Given the description of an element on the screen output the (x, y) to click on. 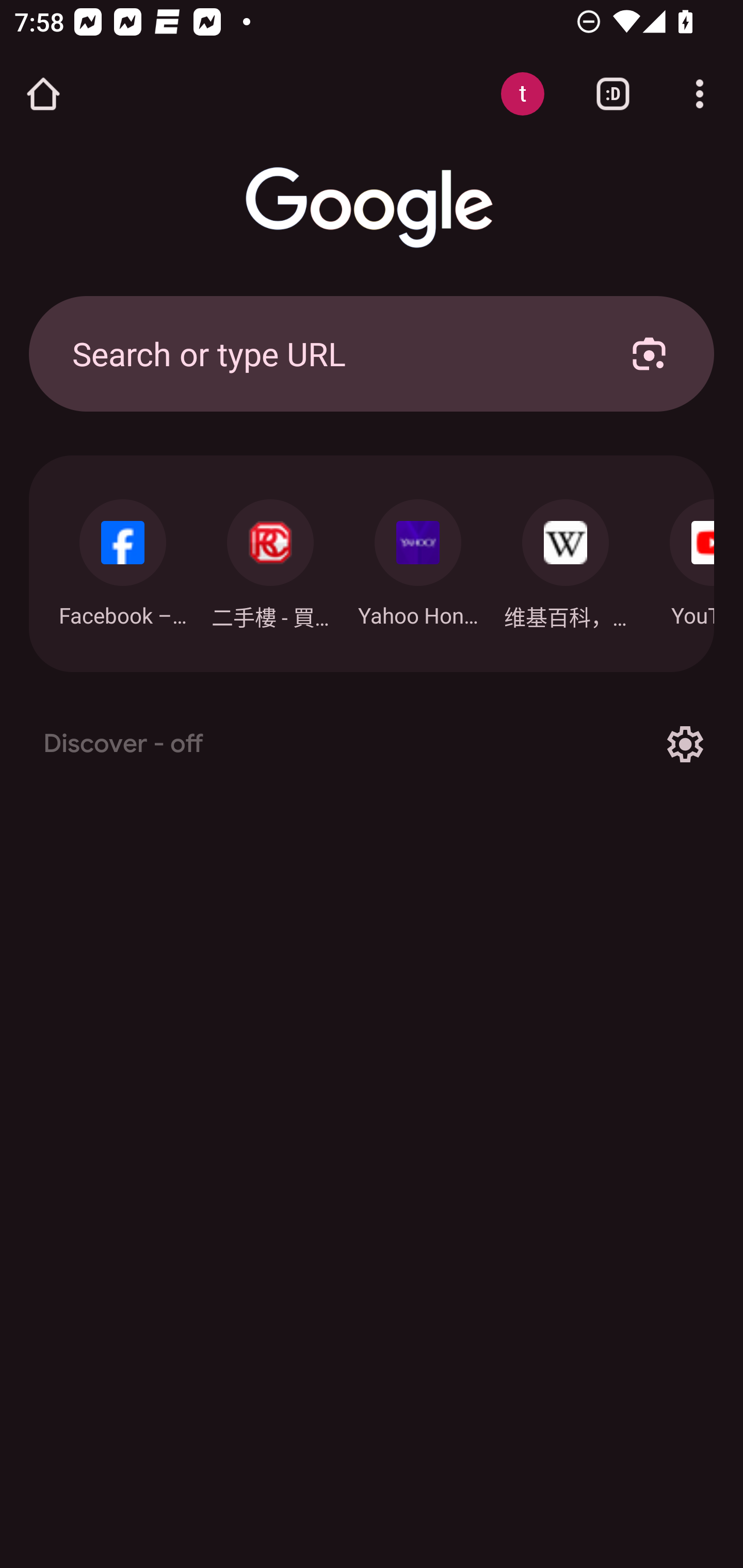
Open the home page (43, 93)
Switch or close tabs (612, 93)
Customize and control Google Chrome (699, 93)
Search or type URL (327, 353)
Search with your camera using Google Lens (648, 353)
Options for Discover (684, 743)
